Given the description of an element on the screen output the (x, y) to click on. 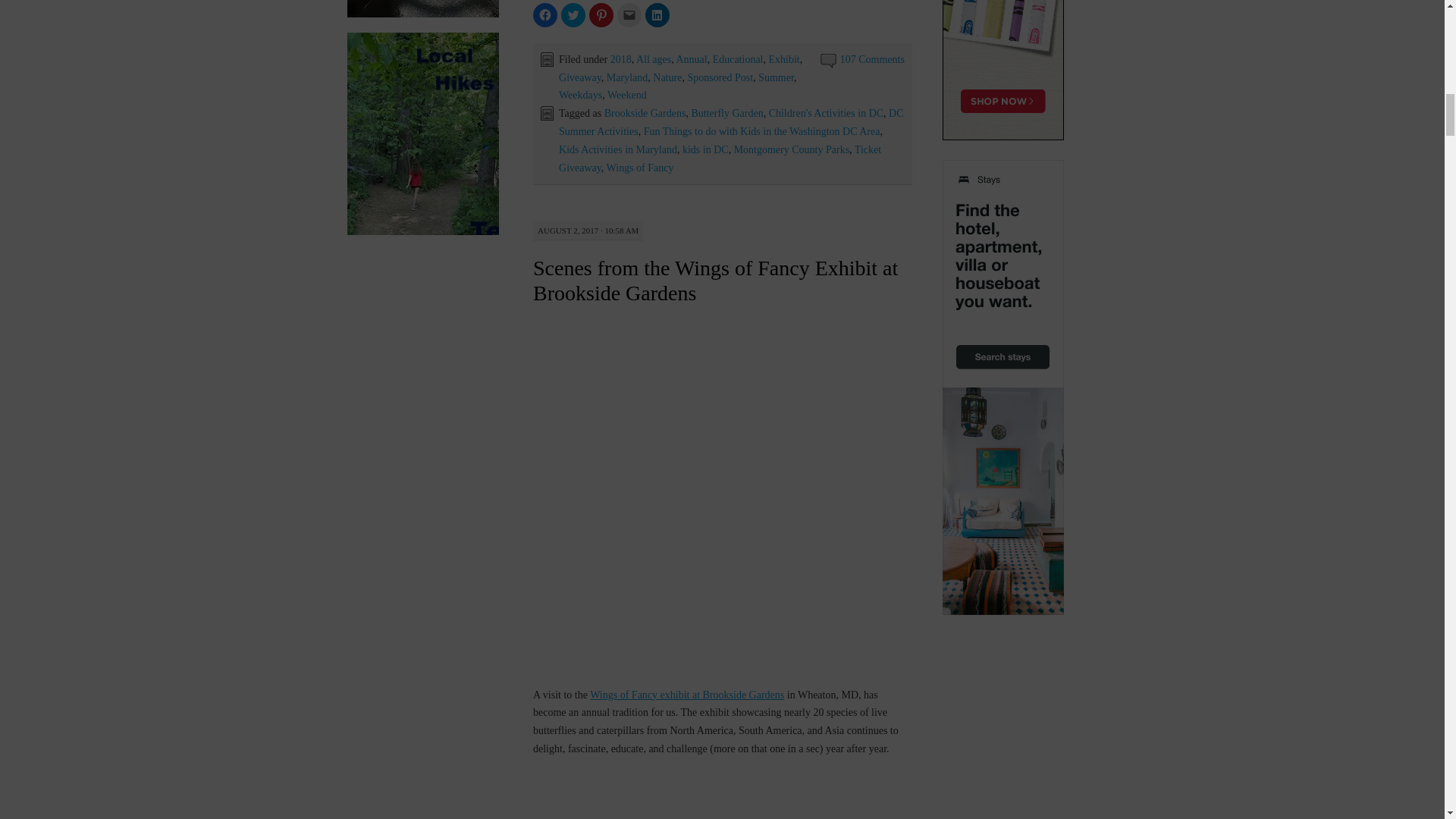
Click to share on LinkedIn (657, 15)
Click to email this to a friend (629, 15)
Click to share on Twitter (572, 15)
Click to share on Pinterest (600, 15)
Click to share on Facebook (544, 15)
